Given the description of an element on the screen output the (x, y) to click on. 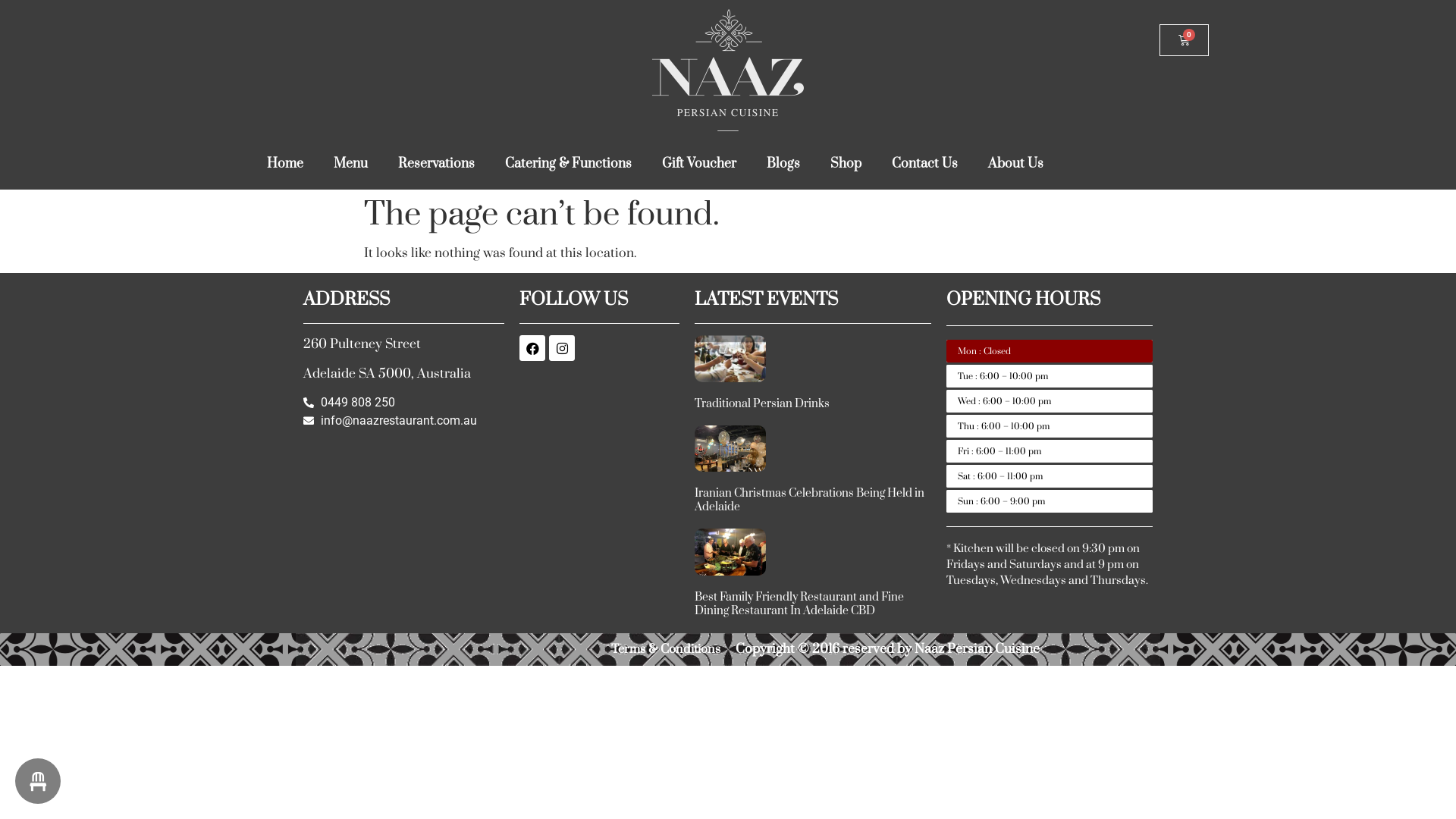
Menu Element type: text (350, 162)
Iranian Christmas Celebrations Being Held in Adelaide Element type: text (809, 500)
Blogs Element type: text (783, 162)
Contact Us Element type: text (924, 162)
About Us Element type: text (1015, 162)
Home Element type: text (284, 162)
info@naazrestaurant.com.au Element type: text (403, 420)
Gift Voucher Element type: text (698, 162)
0449 808 250 Element type: text (403, 402)
Catering & Functions Element type: text (567, 162)
Reservations Element type: text (435, 162)
0 Element type: text (1183, 40)
Shop Element type: text (845, 162)
Traditional Persian Drinks Element type: text (761, 403)
Terms & Conditions Element type: text (665, 648)
